Given the description of an element on the screen output the (x, y) to click on. 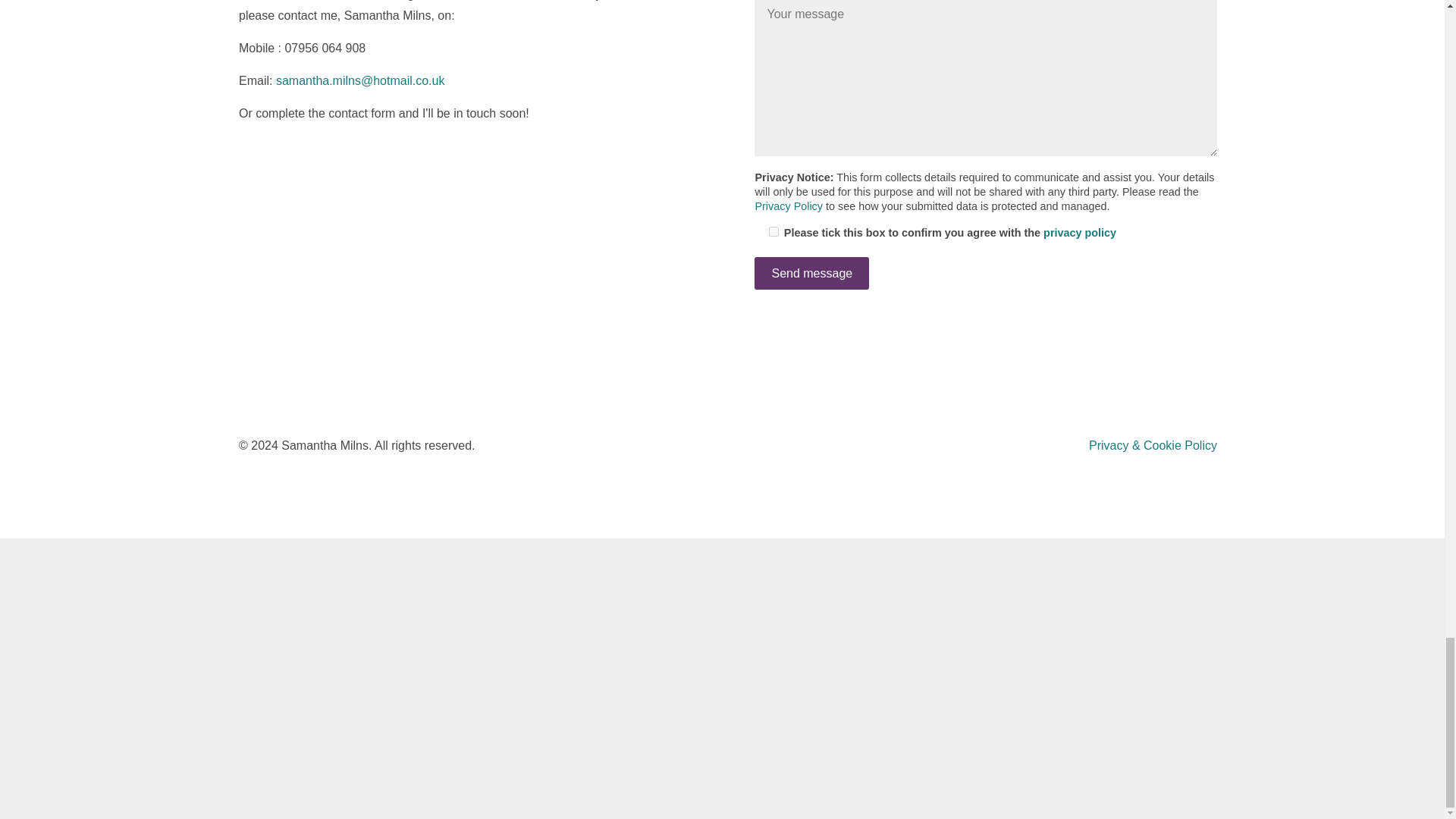
Follow on Instagram (742, 446)
Follow on Facebook (712, 446)
Follow on Instagram (281, 162)
Follow on Facebook (250, 162)
Privacy Policy (788, 205)
1 (773, 231)
privacy policy (1079, 232)
Send message (811, 273)
Send message (811, 273)
